Given the description of an element on the screen output the (x, y) to click on. 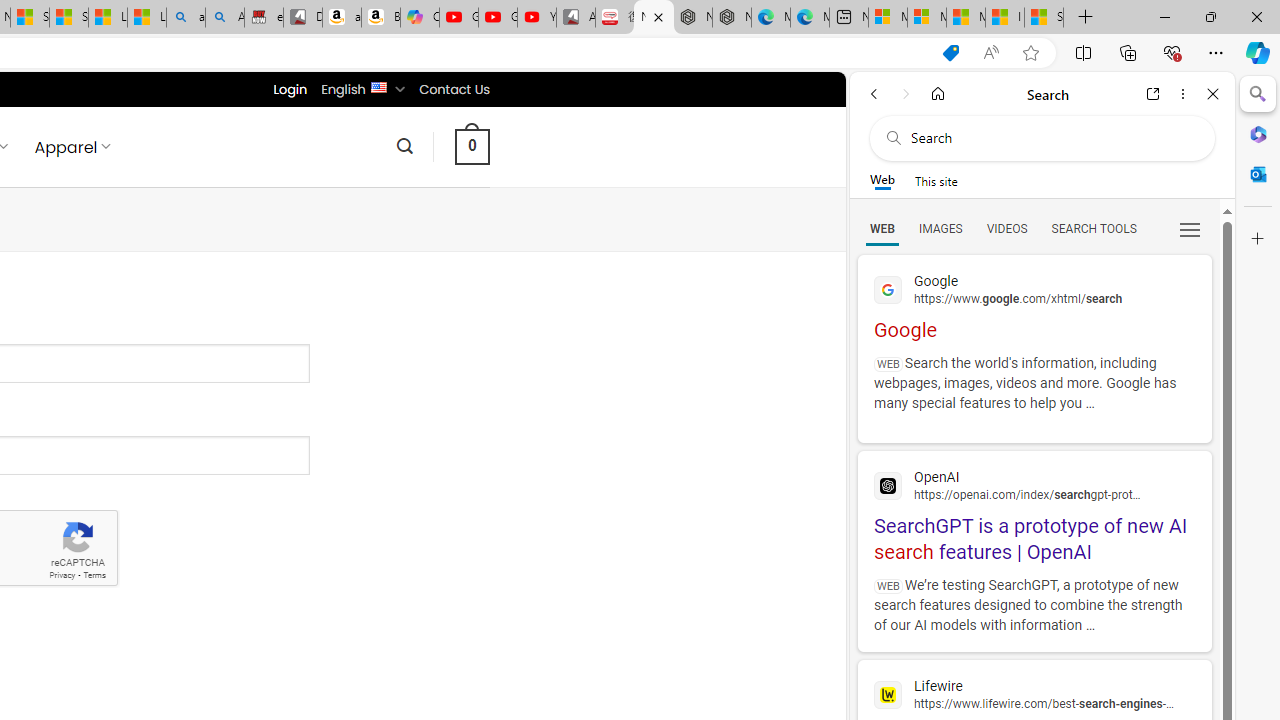
This site has coupons! Shopping in Microsoft Edge (950, 53)
Class: b_serphb (1190, 229)
amazon.in/dp/B0CX59H5W7/?tag=gsmcom05-21 (341, 17)
Microsoft 365 (1258, 133)
Customize (1258, 239)
Amazon Echo Dot PNG - Search Images (225, 17)
Forward (906, 93)
English (377, 86)
Login (290, 89)
